Given the description of an element on the screen output the (x, y) to click on. 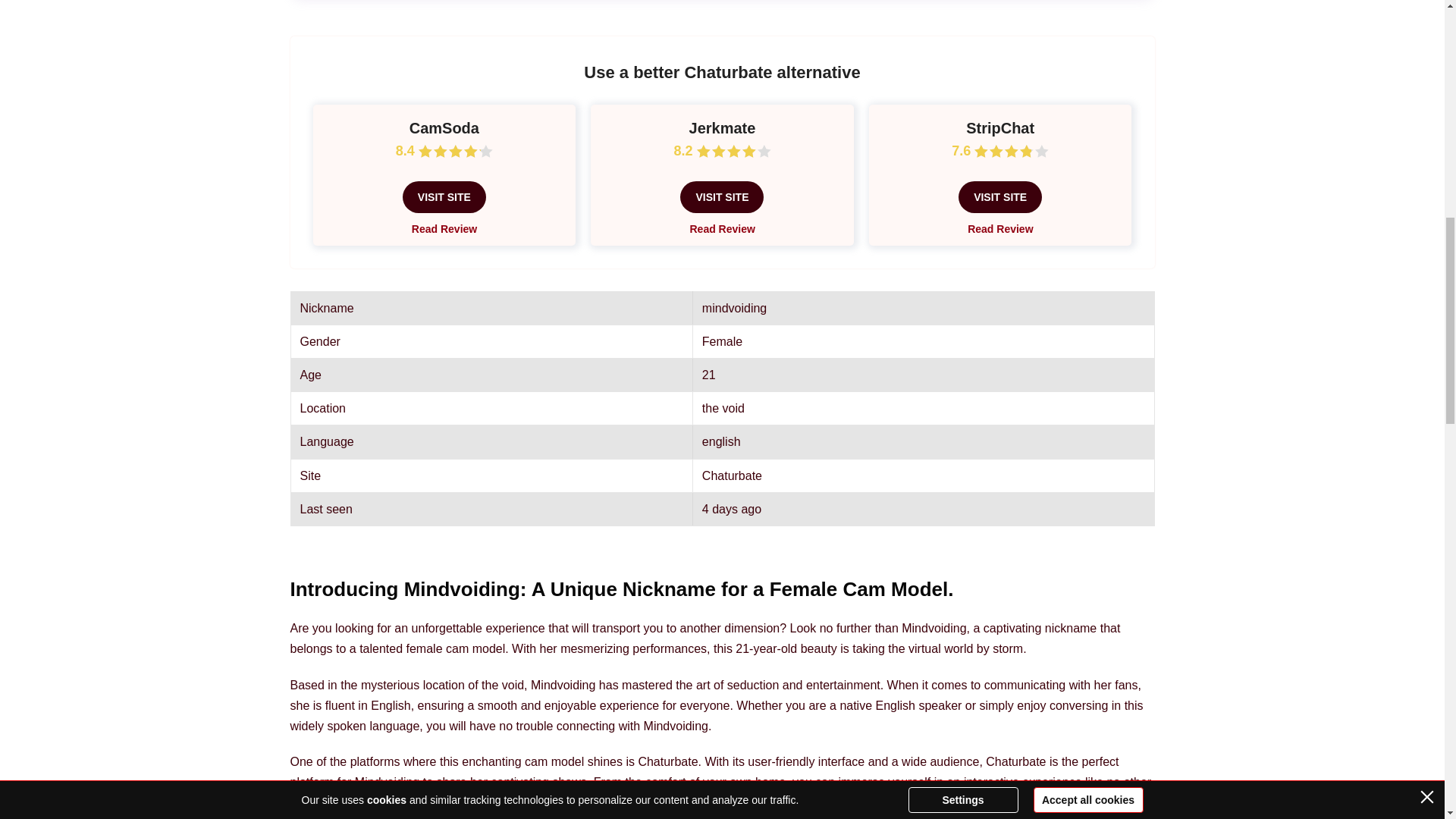
Our Score (732, 151)
Read Review (444, 228)
Read Review (1000, 228)
VISIT SITE (444, 196)
Read Review (720, 228)
Our Score (456, 151)
Our Score (1011, 151)
VISIT SITE (720, 196)
VISIT SITE (1000, 196)
